Given the description of an element on the screen output the (x, y) to click on. 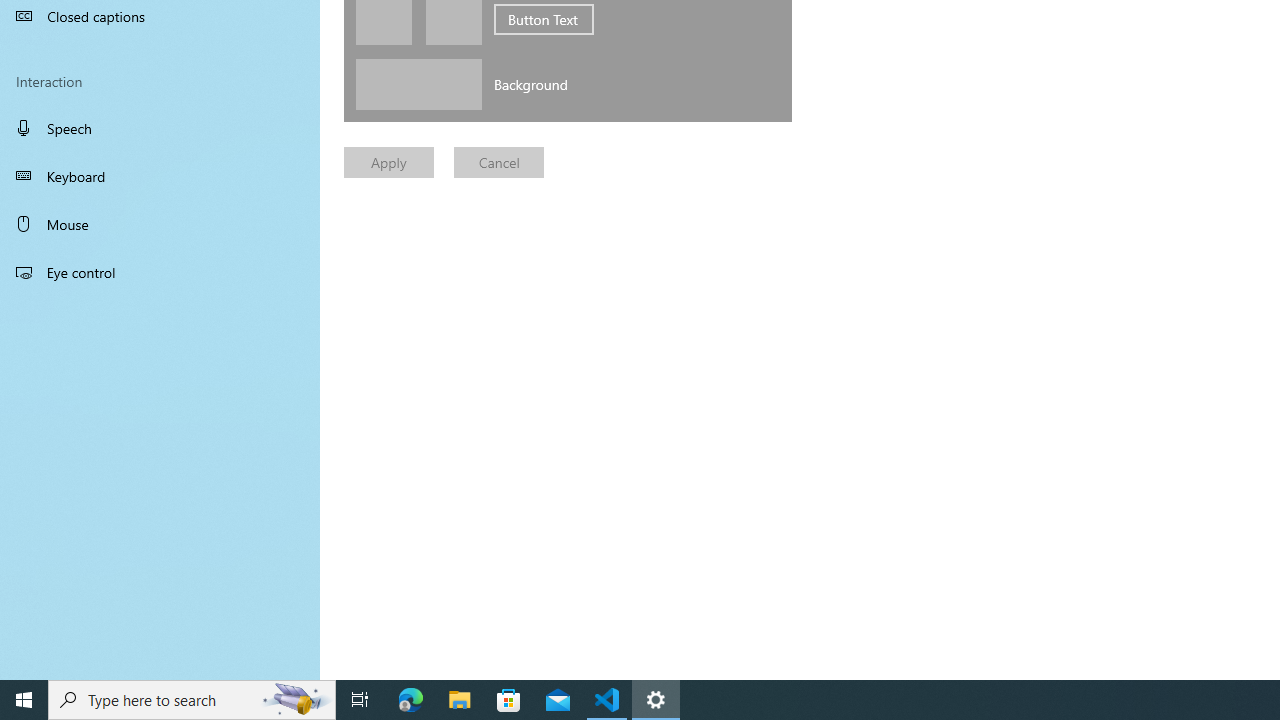
Start (24, 699)
File Explorer (460, 699)
Microsoft Store (509, 699)
Microsoft Edge (411, 699)
Search highlights icon opens search home window (295, 699)
Cancel (499, 161)
Visual Studio Code - 1 running window (607, 699)
Background color (418, 84)
Settings - 1 running window (656, 699)
Apply (388, 161)
Task View (359, 699)
Type here to search (191, 699)
Speech (160, 127)
Eye control (160, 271)
